Given the description of an element on the screen output the (x, y) to click on. 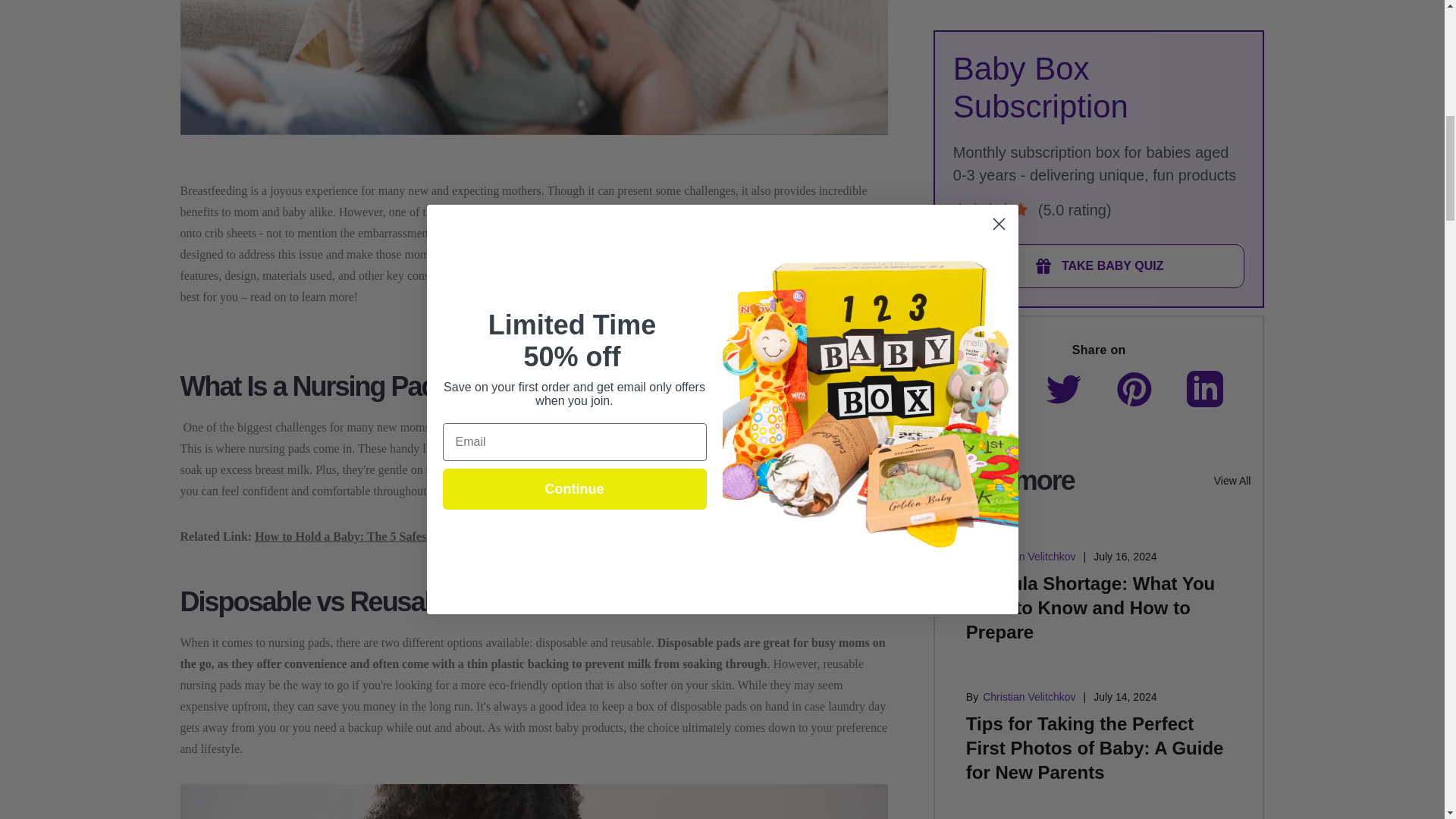
Formula Shortage: What You Need to Know and How to Prepare (1090, 241)
How to Hold a Baby: The 5 Safest Ways to Hold Your Baby (407, 535)
In-Home Daycare: How to Choose the Right Care for Your Child (1078, 521)
View All (1232, 114)
